Given the description of an element on the screen output the (x, y) to click on. 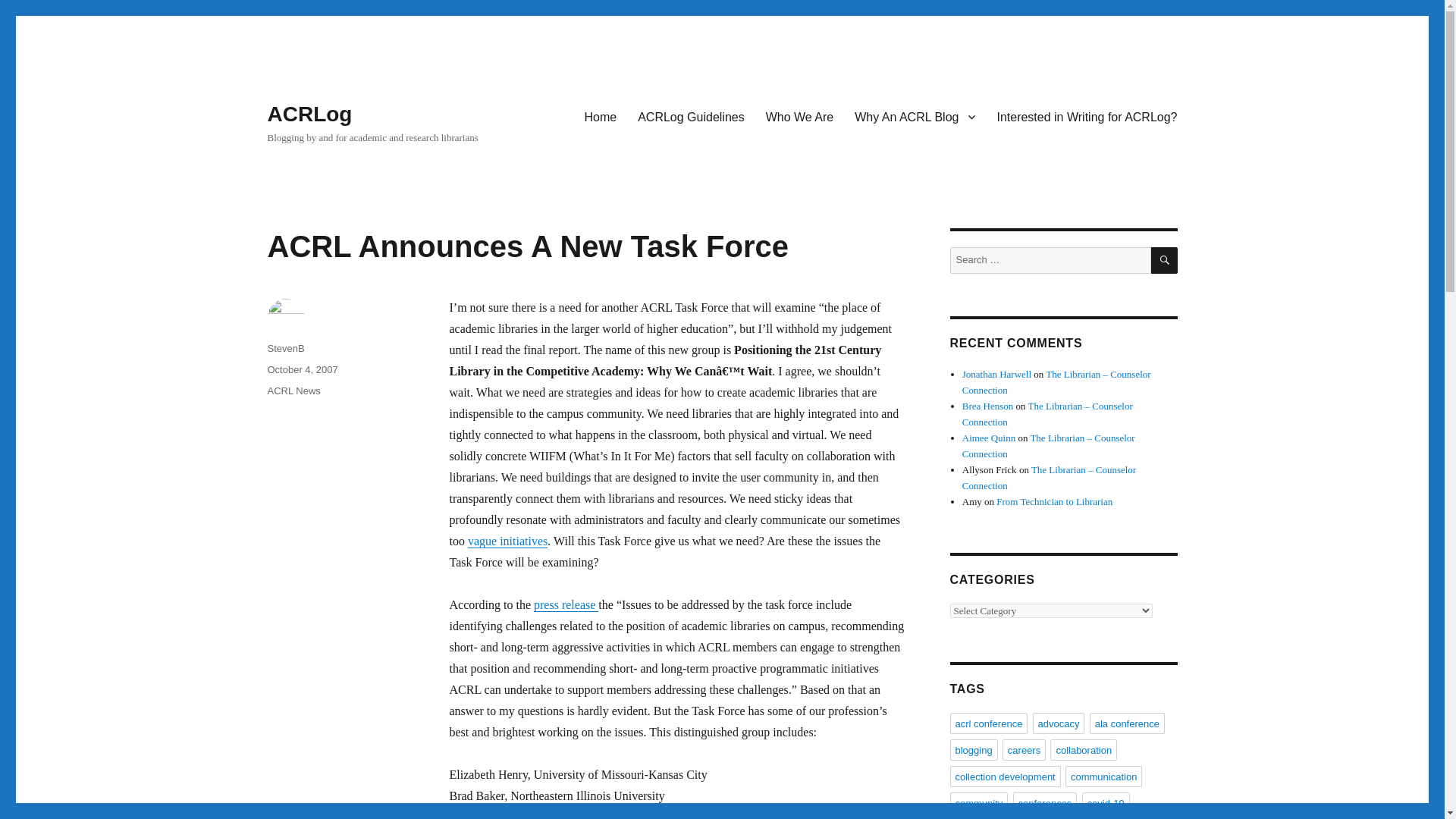
Who We Are (799, 116)
acrl conference (988, 722)
Why An ACRL Blog (914, 116)
Interested in Writing for ACRLog? (1086, 116)
Jonathan Harwell (996, 374)
blogging (973, 749)
collection development (1004, 776)
ACRL News (293, 390)
ACRLog (309, 114)
collaboration (1082, 749)
